Given the description of an element on the screen output the (x, y) to click on. 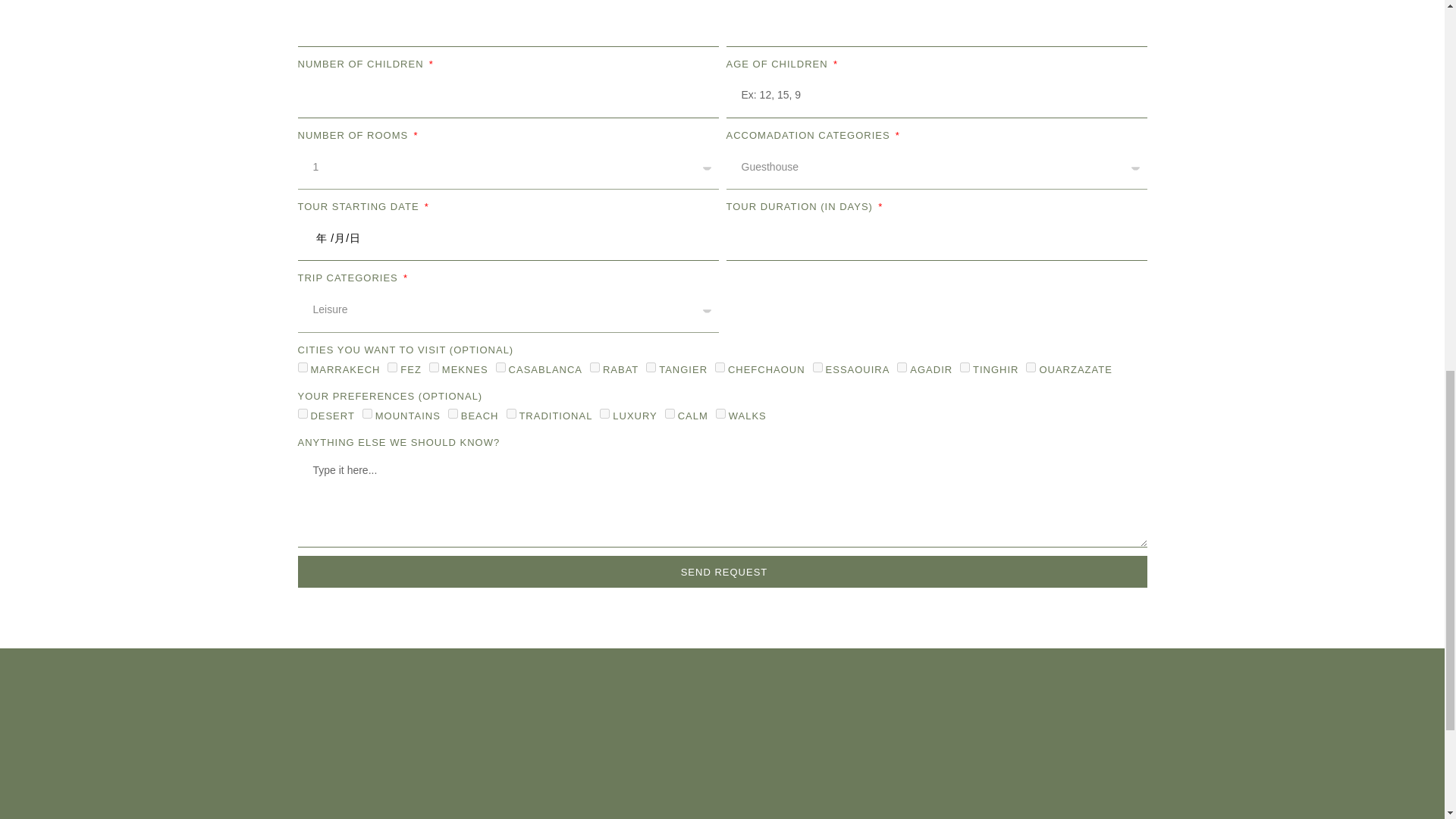
Tangier (651, 367)
Marrakech (302, 367)
Tinghir (964, 367)
Desert (302, 413)
Rabat (594, 367)
Essaouira (817, 367)
Fez (392, 367)
Casablanca (500, 367)
Chefchaoun (719, 367)
SEND REQUEST (722, 572)
Ouarzazate (1030, 367)
Agadir (901, 367)
Meknes (434, 367)
